Given the description of an element on the screen output the (x, y) to click on. 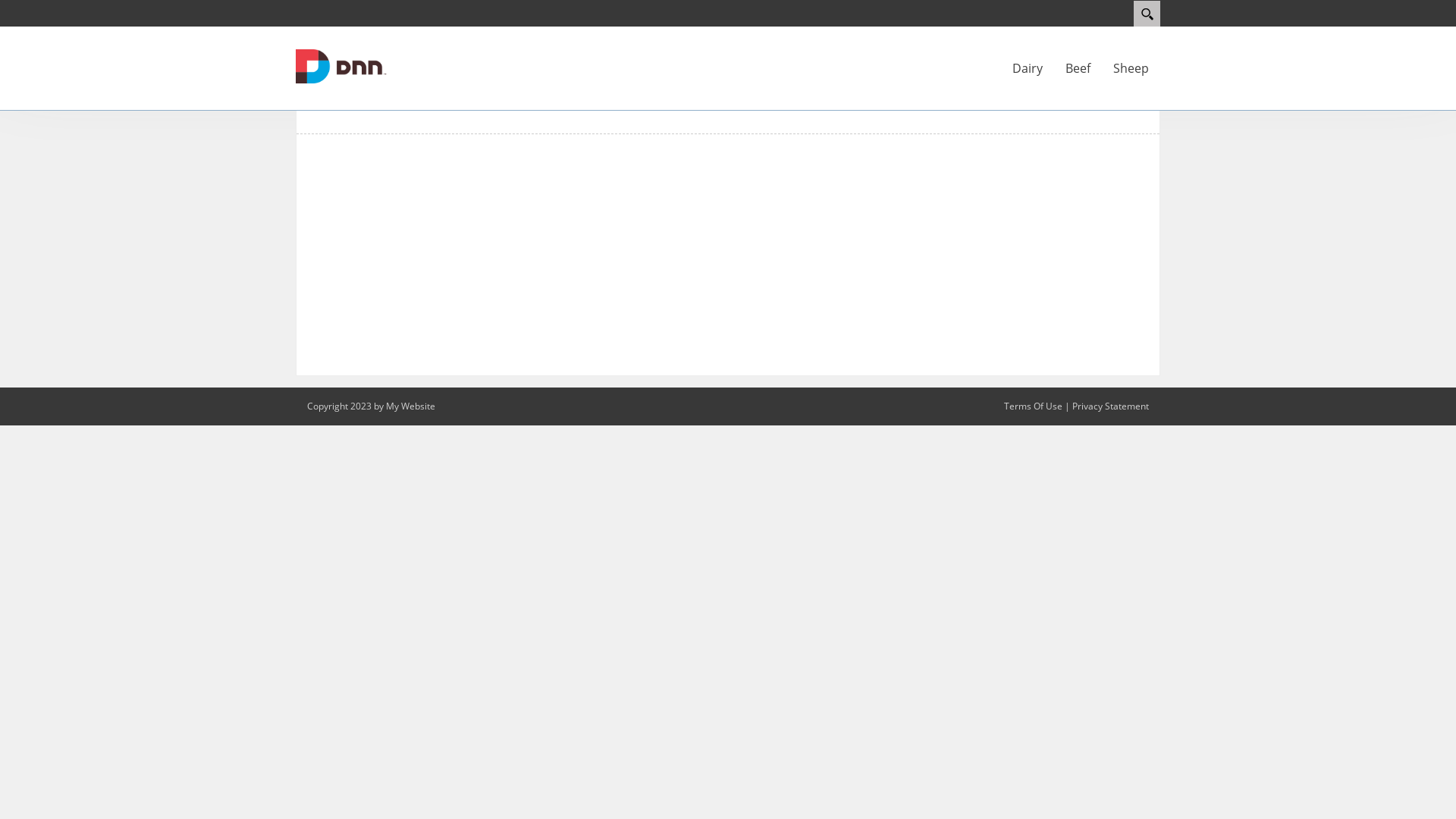
Dairy Element type: text (1027, 68)
Beef Element type: text (1077, 68)
Nutrimax Grain Additive Element type: hover (340, 65)
Privacy Statement Element type: text (1110, 405)
Sheep Element type: text (1130, 68)
Terms Of Use Element type: text (1033, 405)
Search Element type: text (1146, 13)
